Given the description of an element on the screen output the (x, y) to click on. 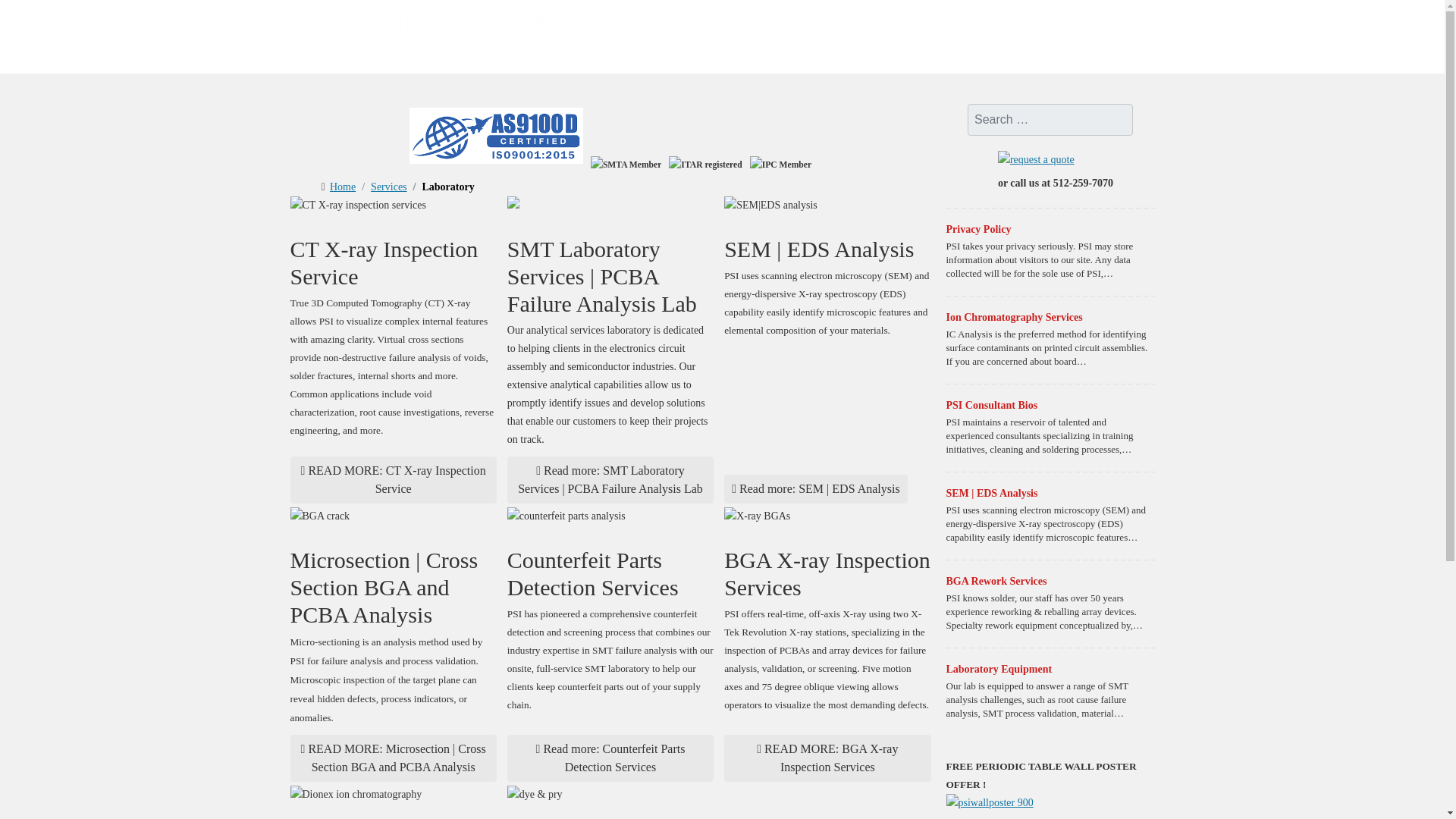
SERVICES (885, 27)
NEWS (1042, 27)
ABOUT (812, 27)
HOME (746, 27)
GALLERIES (969, 27)
